Given the description of an element on the screen output the (x, y) to click on. 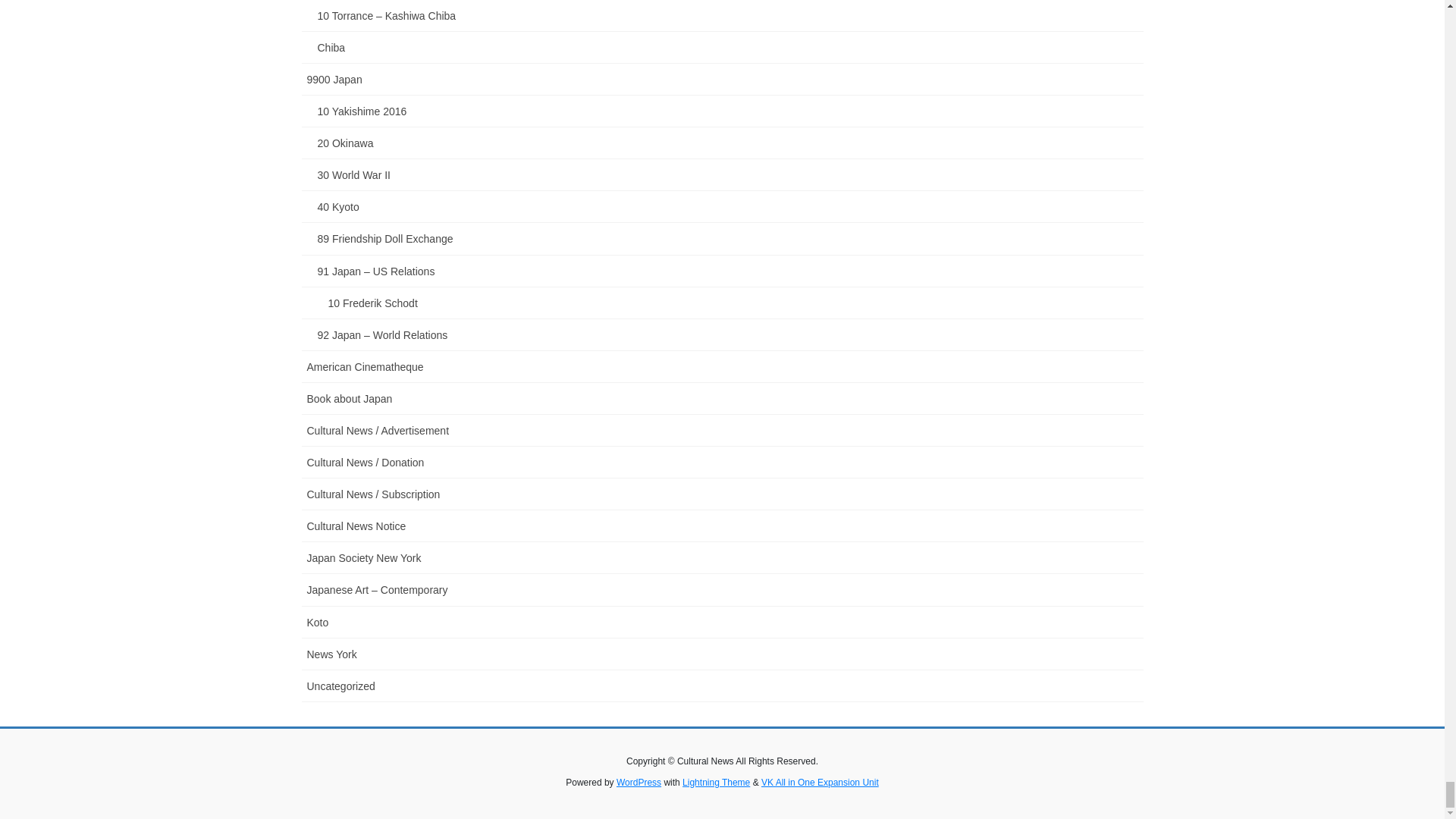
Free WordPress Theme Lightning (715, 782)
